Given the description of an element on the screen output the (x, y) to click on. 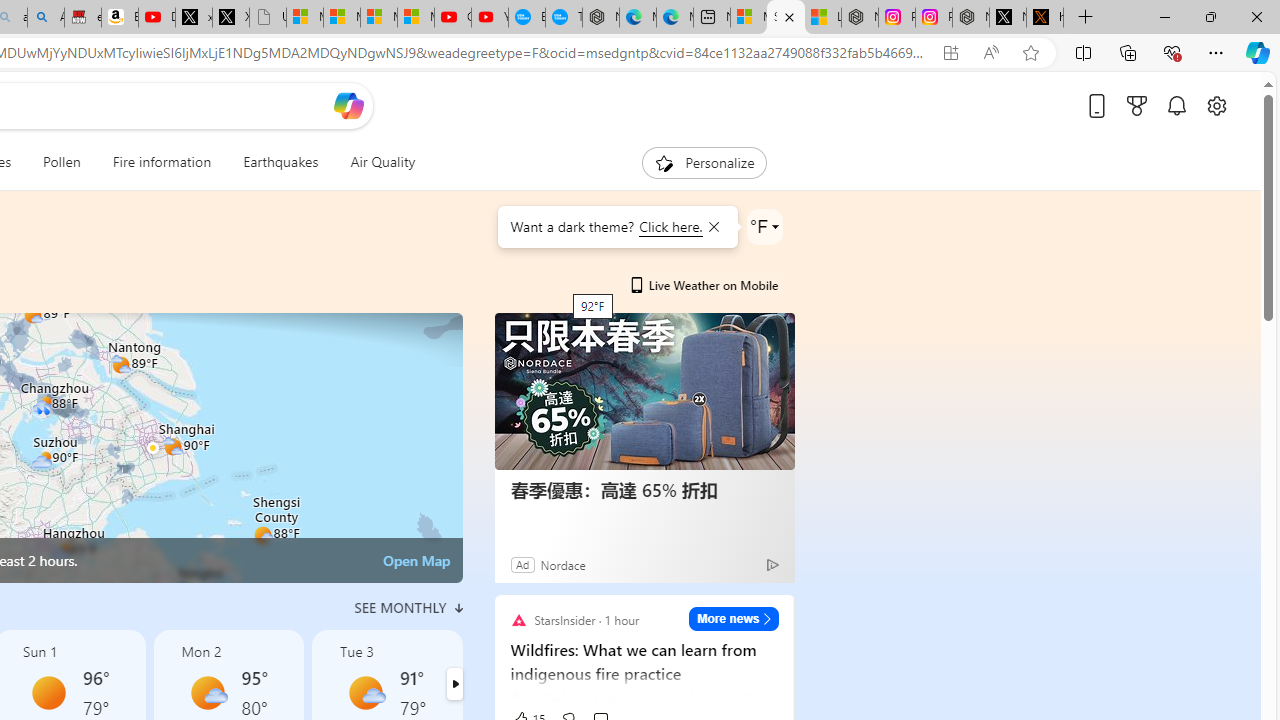
Fire information (162, 162)
Air Quality (375, 162)
Weather settings (764, 226)
More news (733, 618)
Earthquakes (280, 162)
Earthquakes (280, 162)
Fire information (161, 162)
Mostly sunny (365, 692)
Sunny (49, 692)
